Given the description of an element on the screen output the (x, y) to click on. 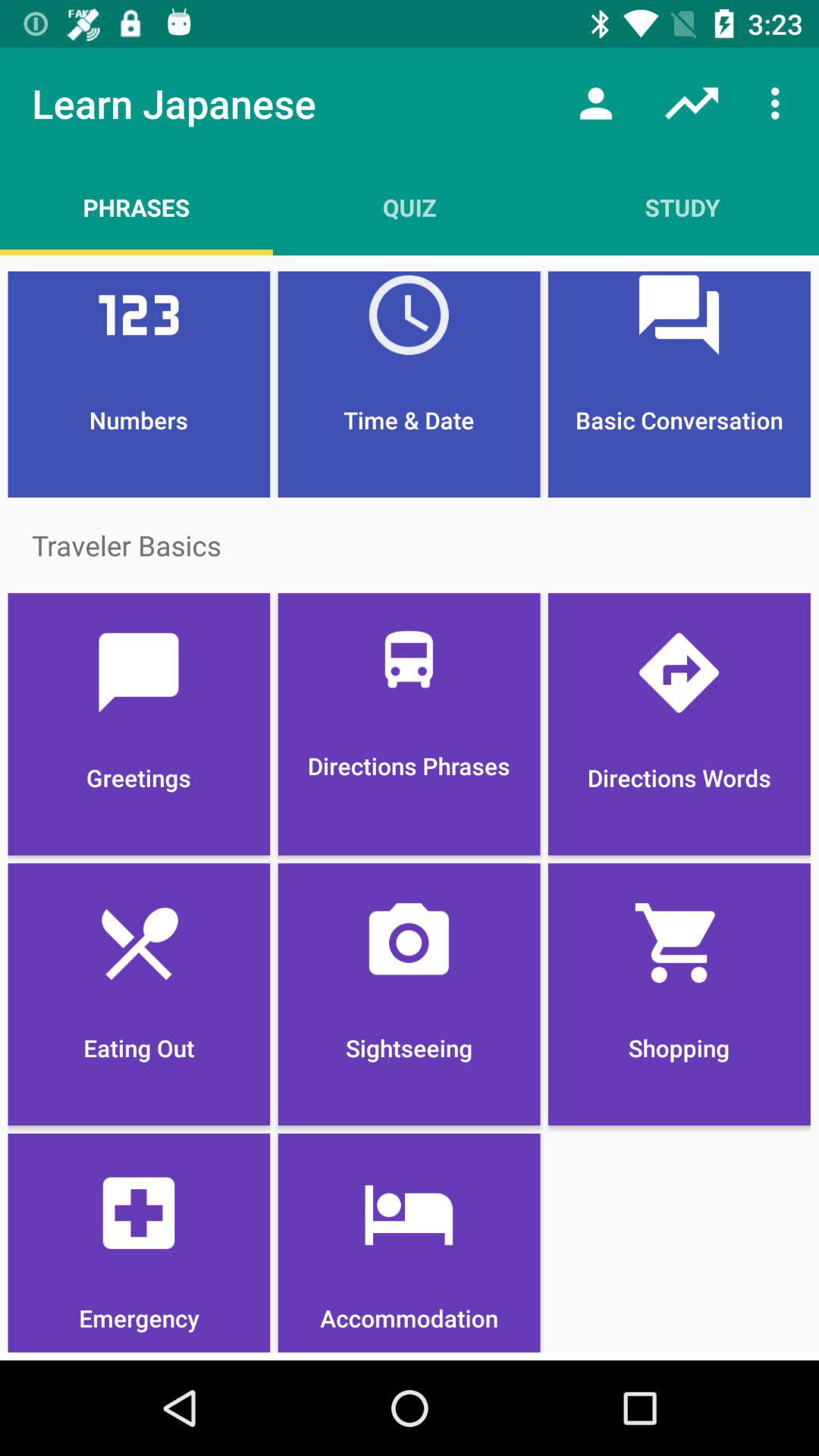
open quiz (409, 207)
